Given the description of an element on the screen output the (x, y) to click on. 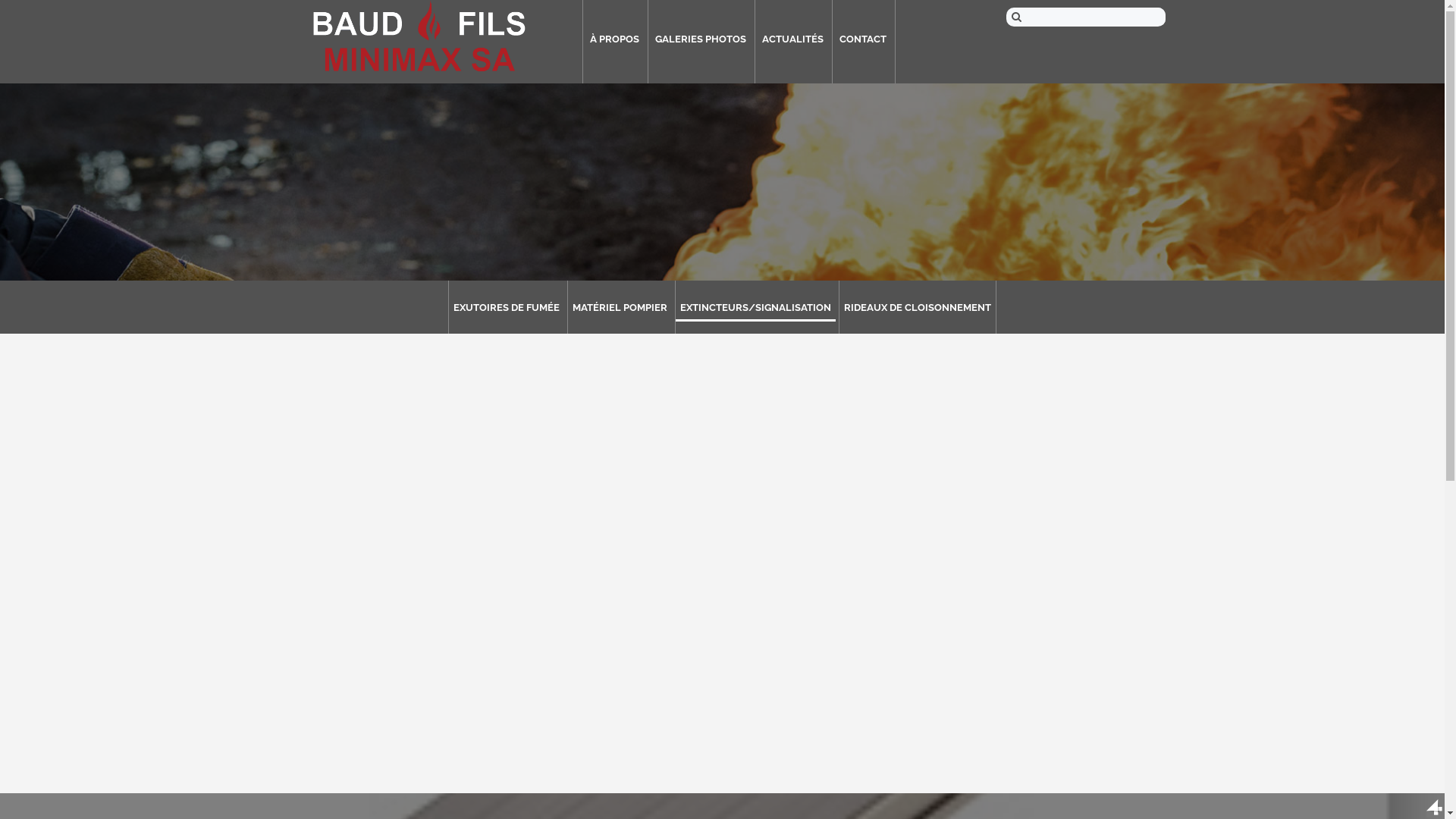
RIDEAUX DE CLOISONNEMENT Element type: text (917, 307)
GALERIES PHOTOS Element type: text (699, 39)
EXTINCTEURS/SIGNALISATION Element type: text (755, 307)
CONTACT Element type: text (862, 39)
Rechercher Element type: text (37, 10)
Poste incendie Element type: hover (418, 35)
